Given the description of an element on the screen output the (x, y) to click on. 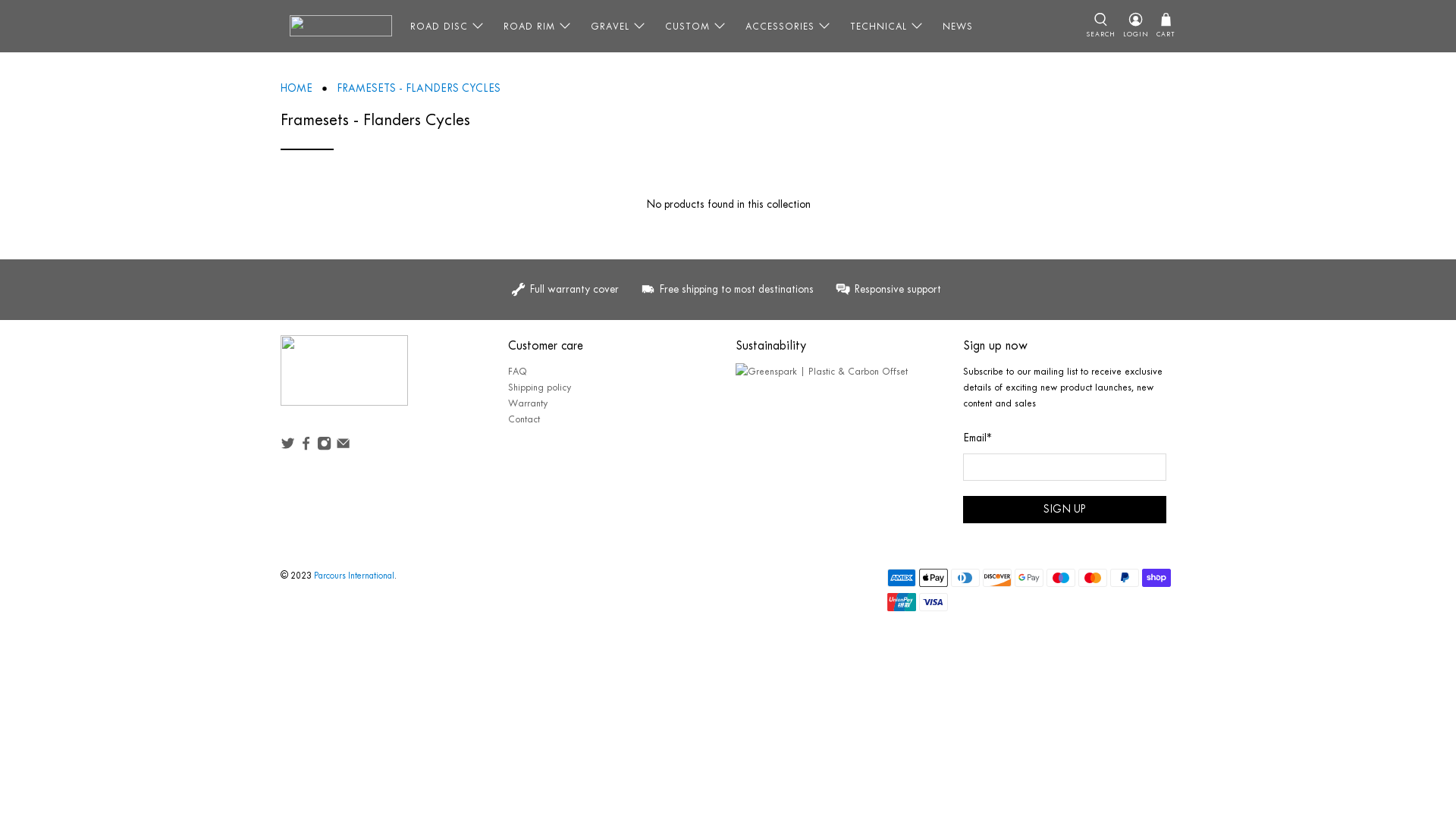
GRAVEL Element type: text (618, 26)
Full warranty cover Element type: text (571, 289)
SEARCH Element type: text (1100, 26)
FAQ Element type: text (517, 370)
Parcours International Element type: hover (343, 377)
ACCESSORIES Element type: text (788, 26)
Responsive support Element type: text (885, 289)
Email Parcours International Element type: hover (342, 446)
Free shipping to most destinations Element type: text (728, 289)
HOME Element type: text (296, 88)
CART Element type: text (1165, 26)
ROAD DISC Element type: text (447, 26)
LOGIN Element type: text (1135, 26)
SIGN UP Element type: text (1064, 509)
FRAMESETS - FLANDERS CYCLES Element type: text (418, 88)
ROAD RIM Element type: text (537, 26)
Warranty Element type: text (527, 402)
Parcours International on Instagram Element type: hover (323, 446)
NEWS Element type: text (957, 26)
Parcours International on Facebook Element type: hover (305, 446)
TECHNICAL Element type: text (886, 26)
Parcours International on Twitter Element type: hover (287, 446)
Contact Element type: text (523, 418)
Parcours International Element type: hover (340, 25)
Parcours International Element type: text (353, 575)
Shipping policy Element type: text (539, 386)
CUSTOM Element type: text (695, 26)
